Given the description of an element on the screen output the (x, y) to click on. 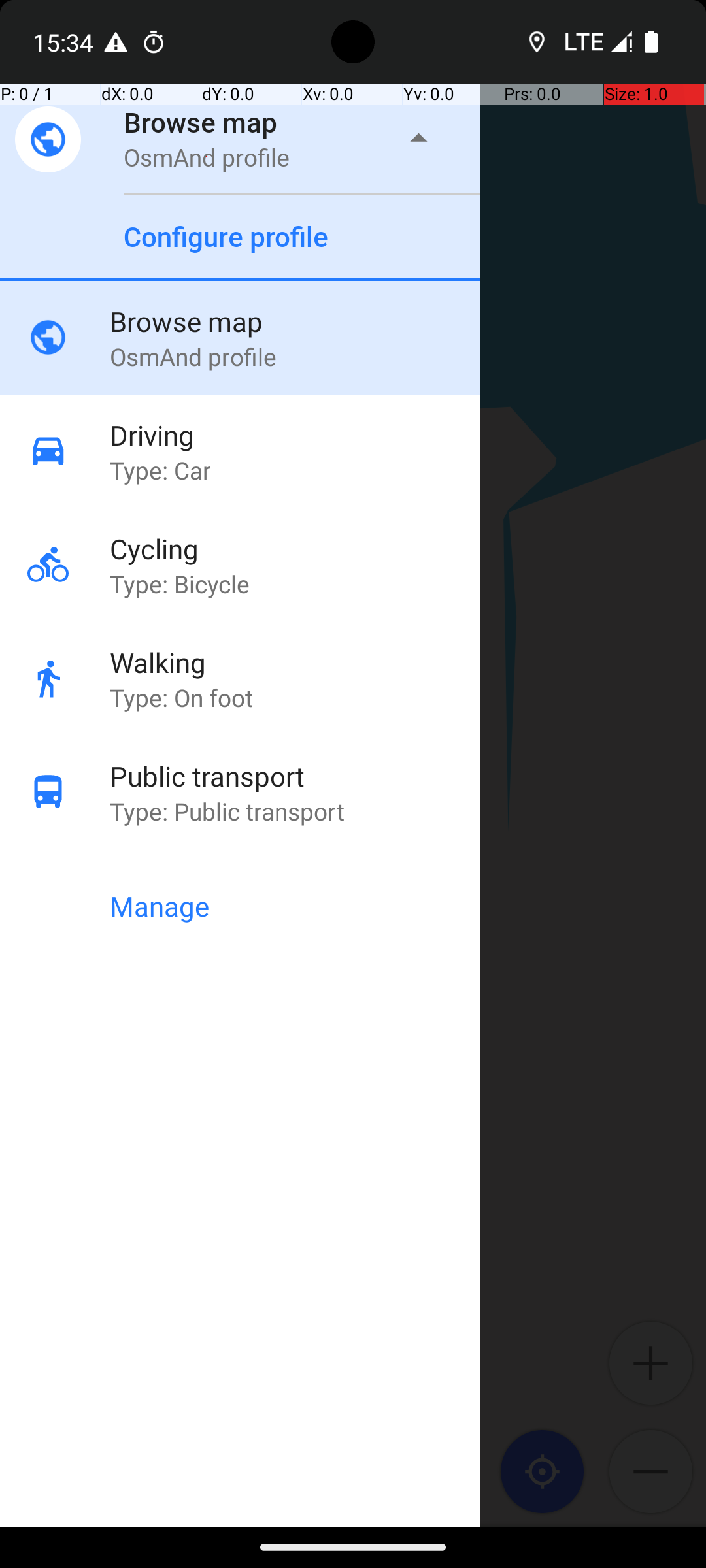
Browse map Element type: android.widget.TextView (200, 121)
OsmAnd profile Element type: android.widget.TextView (206, 156)
Configure profile Element type: android.widget.TextView (225, 235)
Driving Element type: android.widget.TextView (294, 434)
Type: Car Element type: android.widget.TextView (294, 469)
Cycling Element type: android.widget.TextView (294, 548)
Type: Bicycle Element type: android.widget.TextView (294, 583)
Walking Element type: android.widget.TextView (294, 661)
Type: On foot Element type: android.widget.TextView (294, 697)
Public transport Element type: android.widget.TextView (294, 775)
Type: Public transport Element type: android.widget.TextView (294, 810)
Manage Element type: android.widget.TextView (294, 905)
